Given the description of an element on the screen output the (x, y) to click on. 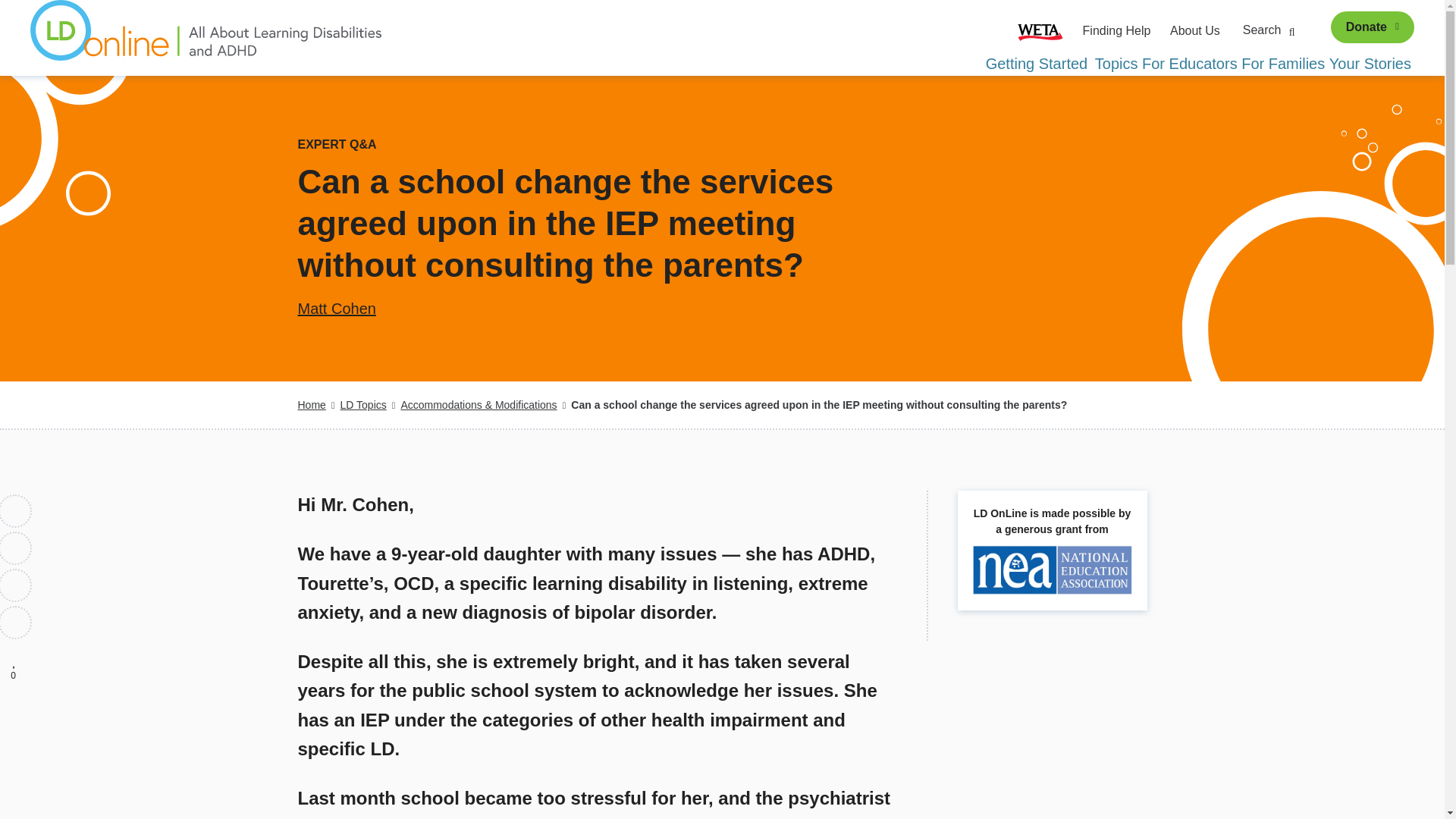
Share to Linkedin (16, 584)
Home (205, 38)
Like (16, 659)
WETA (1039, 30)
Topics (1116, 63)
About Us (1195, 30)
Donate (1371, 27)
Share to Email (16, 622)
Share to X (16, 548)
Home (310, 404)
